Given the description of an element on the screen output the (x, y) to click on. 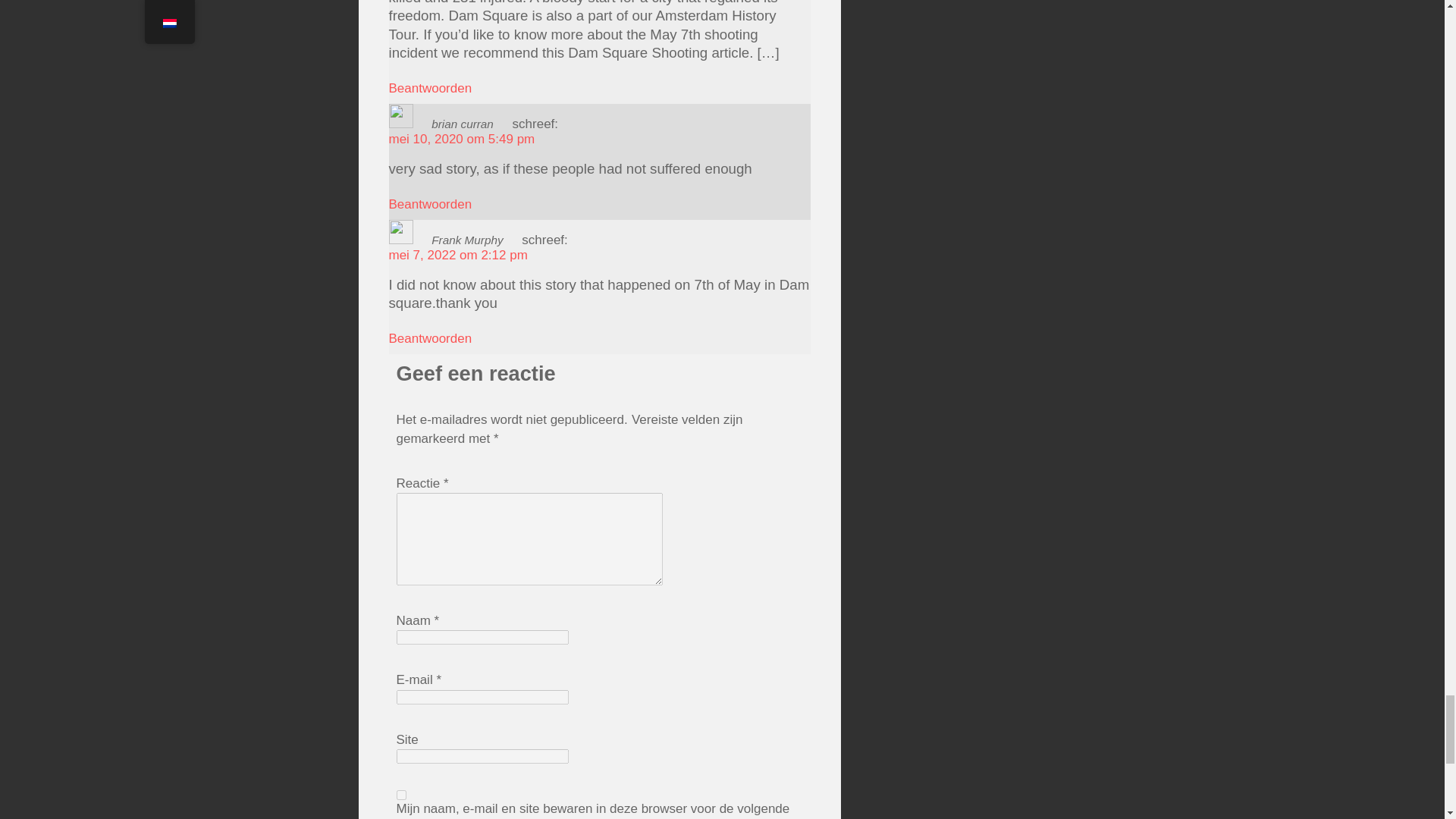
yes (401, 795)
